Given the description of an element on the screen output the (x, y) to click on. 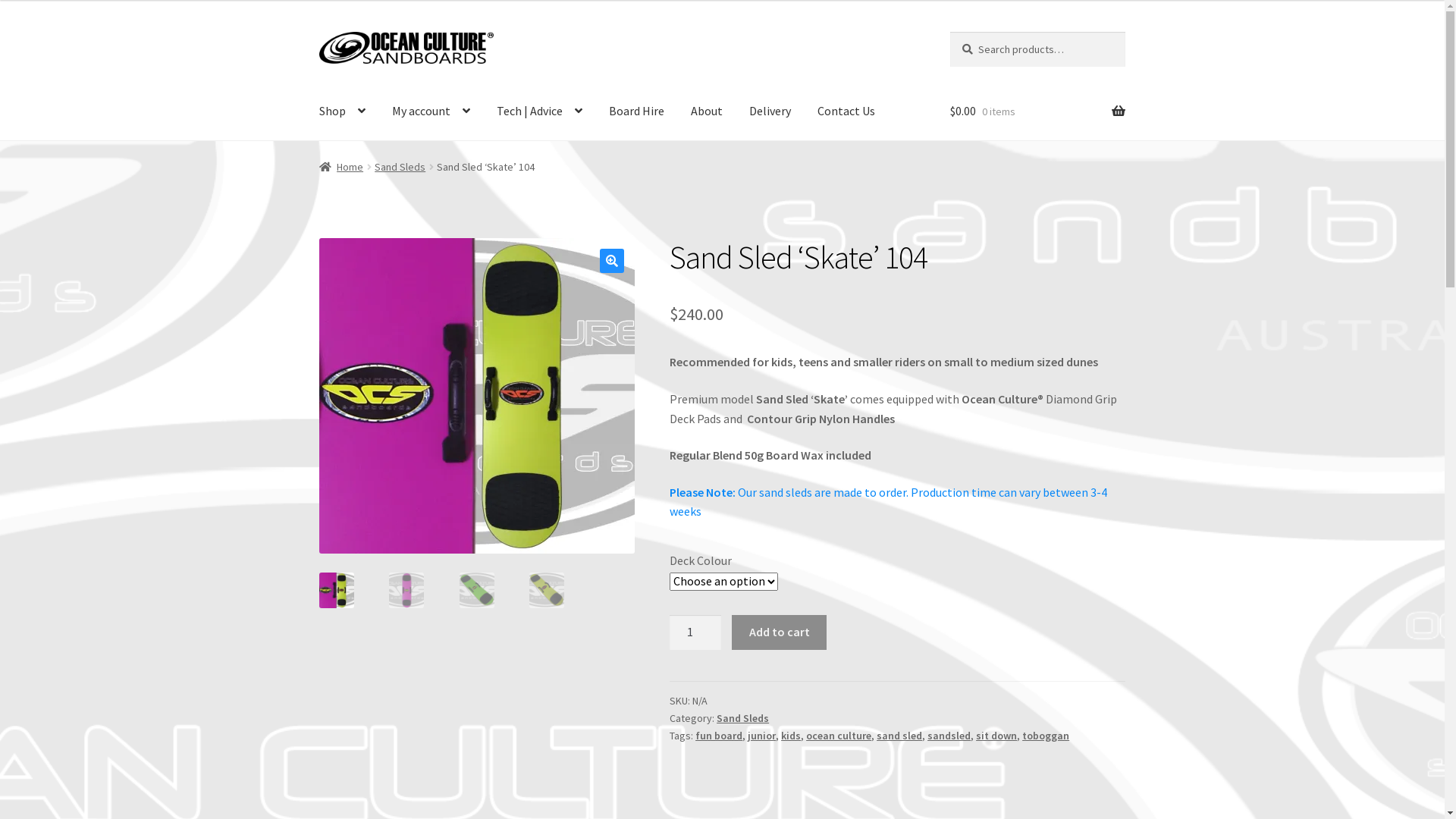
Contact Us Element type: text (846, 111)
$0.00 0 items Element type: text (1037, 111)
Board Hire Element type: text (636, 111)
Shop Element type: text (342, 111)
sit down Element type: text (995, 735)
Delivery Element type: text (770, 111)
About Element type: text (706, 111)
Tech | Advice Element type: text (539, 111)
Ocean Culture Sandboards [ Board Model - 'Skate' Sand Sled ] Element type: hover (476, 395)
Add to cart Element type: text (778, 632)
Sand Sleds Element type: text (742, 717)
ocean culture Element type: text (838, 735)
Home Element type: text (341, 166)
sand sled Element type: text (899, 735)
kids Element type: text (790, 735)
Search Element type: text (949, 31)
My account Element type: text (430, 111)
sandsled Element type: text (948, 735)
junior Element type: text (761, 735)
Ocean Culture Sandboards [ Board Model - Skate Sled] Element type: hover (792, 395)
fun board Element type: text (718, 735)
toboggan Element type: text (1045, 735)
Skip to navigation Element type: text (318, 31)
Sand Sleds Element type: text (399, 166)
